Given the description of an element on the screen output the (x, y) to click on. 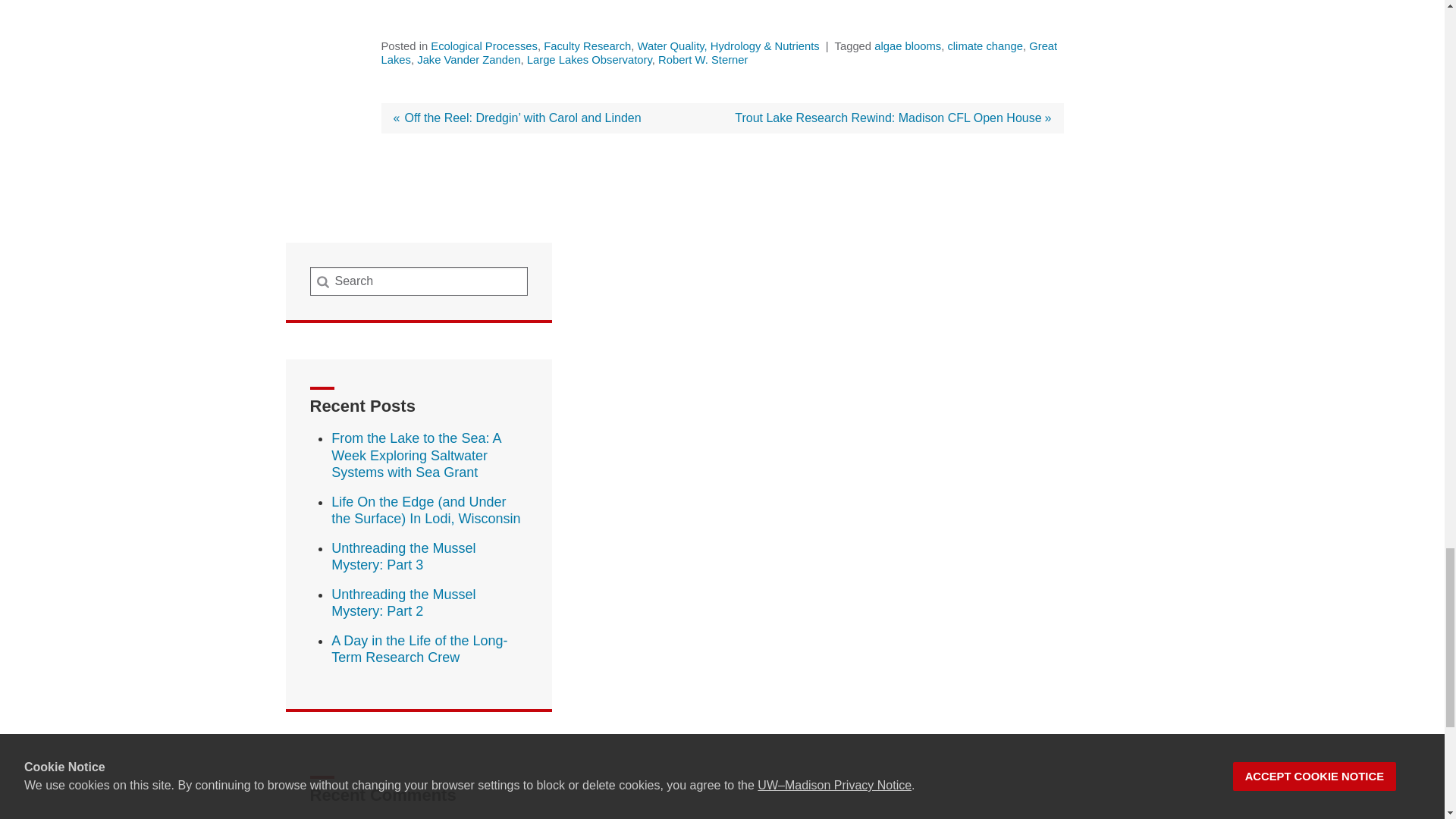
Great Lakes (718, 53)
Large Lakes Observatory (589, 60)
Robert W. Sterner (703, 60)
Unthreading the Mussel Mystery: Part 2 (403, 603)
climate change (985, 46)
Faculty Research (586, 46)
Unthreading the Mussel Mystery: Part 3 (403, 556)
A Day in the Life of the Long-Term Research Crew (418, 649)
Jake Vander Zanden (467, 60)
Ecological Processes (483, 46)
